Given the description of an element on the screen output the (x, y) to click on. 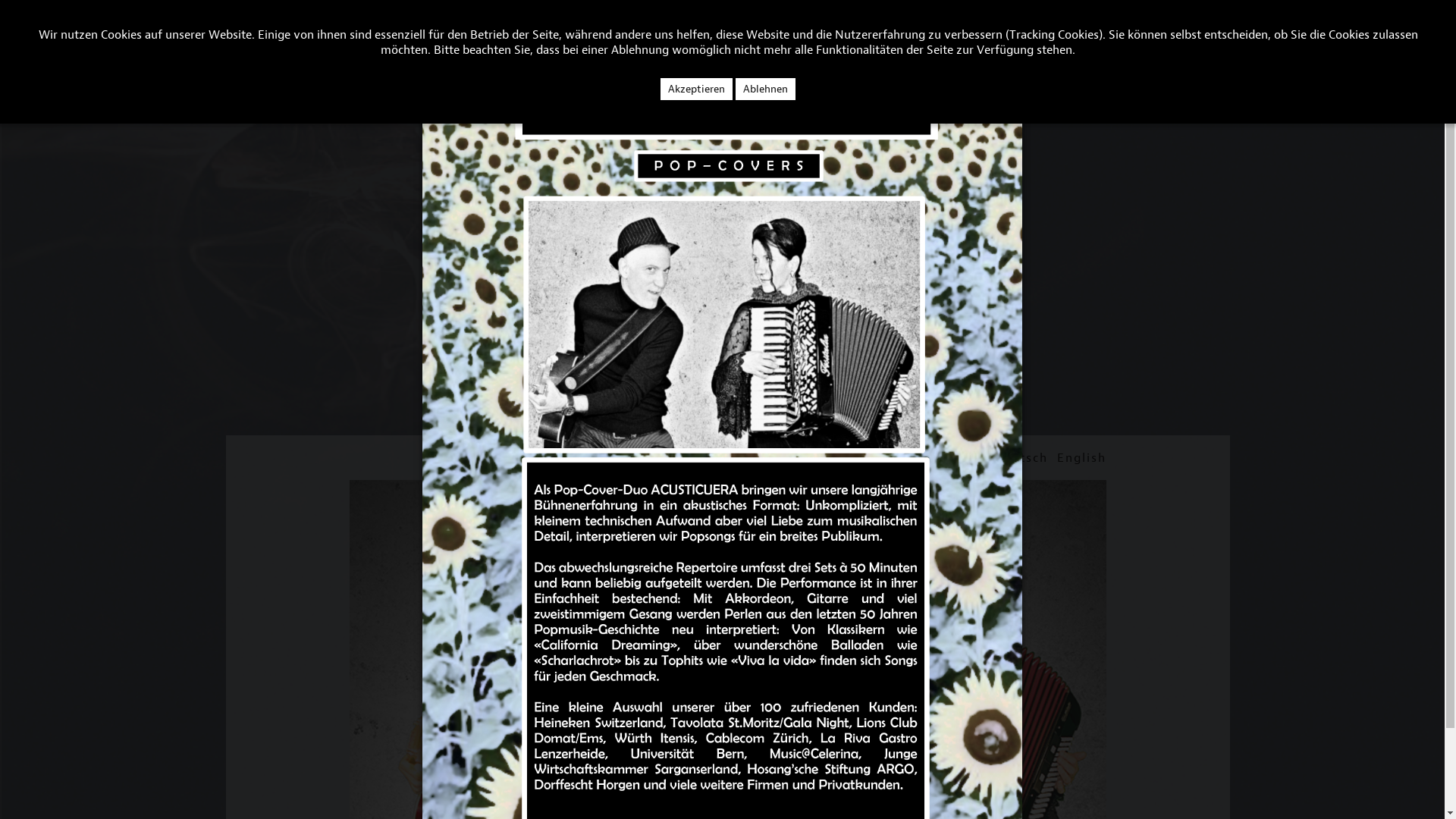
Ablehnen Element type: text (765, 89)
English Element type: text (1081, 457)
ABOUT Element type: text (25, 43)
LOOK & LISTEN Element type: text (102, 43)
DOWNLOAD Element type: text (318, 43)
CONTACT Element type: text (242, 43)
Deutsch Element type: text (1021, 457)
SONGS Element type: text (180, 43)
Akzeptieren Element type: text (696, 89)
